Given the description of an element on the screen output the (x, y) to click on. 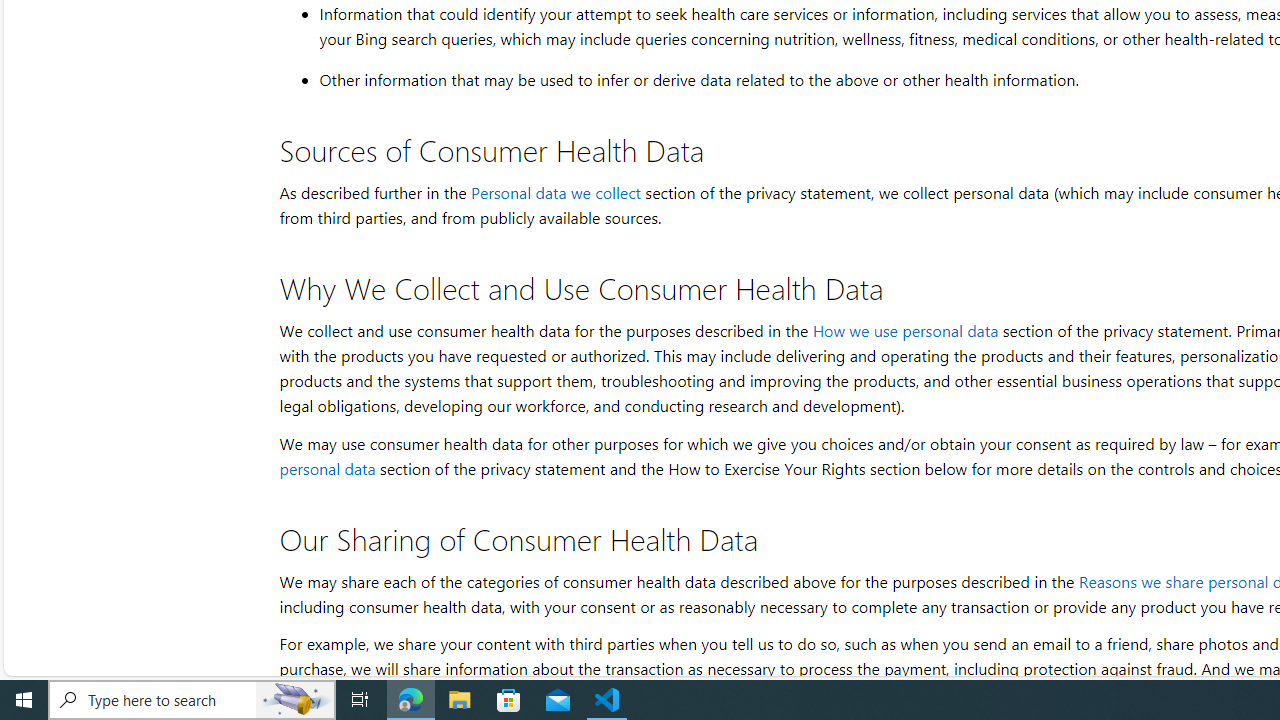
Personal data we collect (555, 192)
How we use personal data (904, 330)
